Given the description of an element on the screen output the (x, y) to click on. 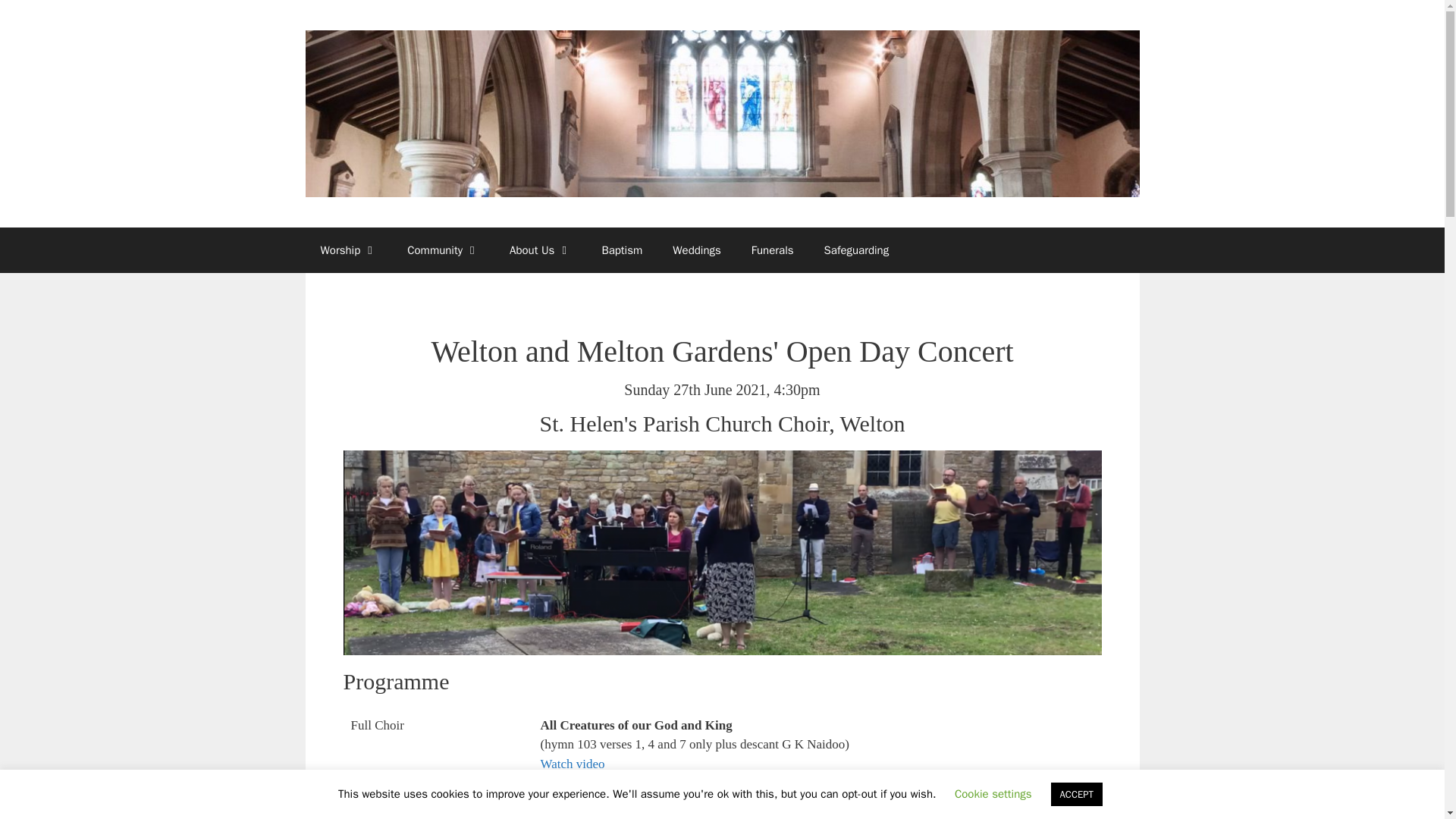
Community (443, 249)
Watch video (572, 763)
Safeguarding (856, 249)
Worship (347, 249)
Weddings (697, 249)
About Us (540, 249)
Funerals (772, 249)
St. Helen's Church (721, 112)
Baptism (622, 249)
